Given the description of an element on the screen output the (x, y) to click on. 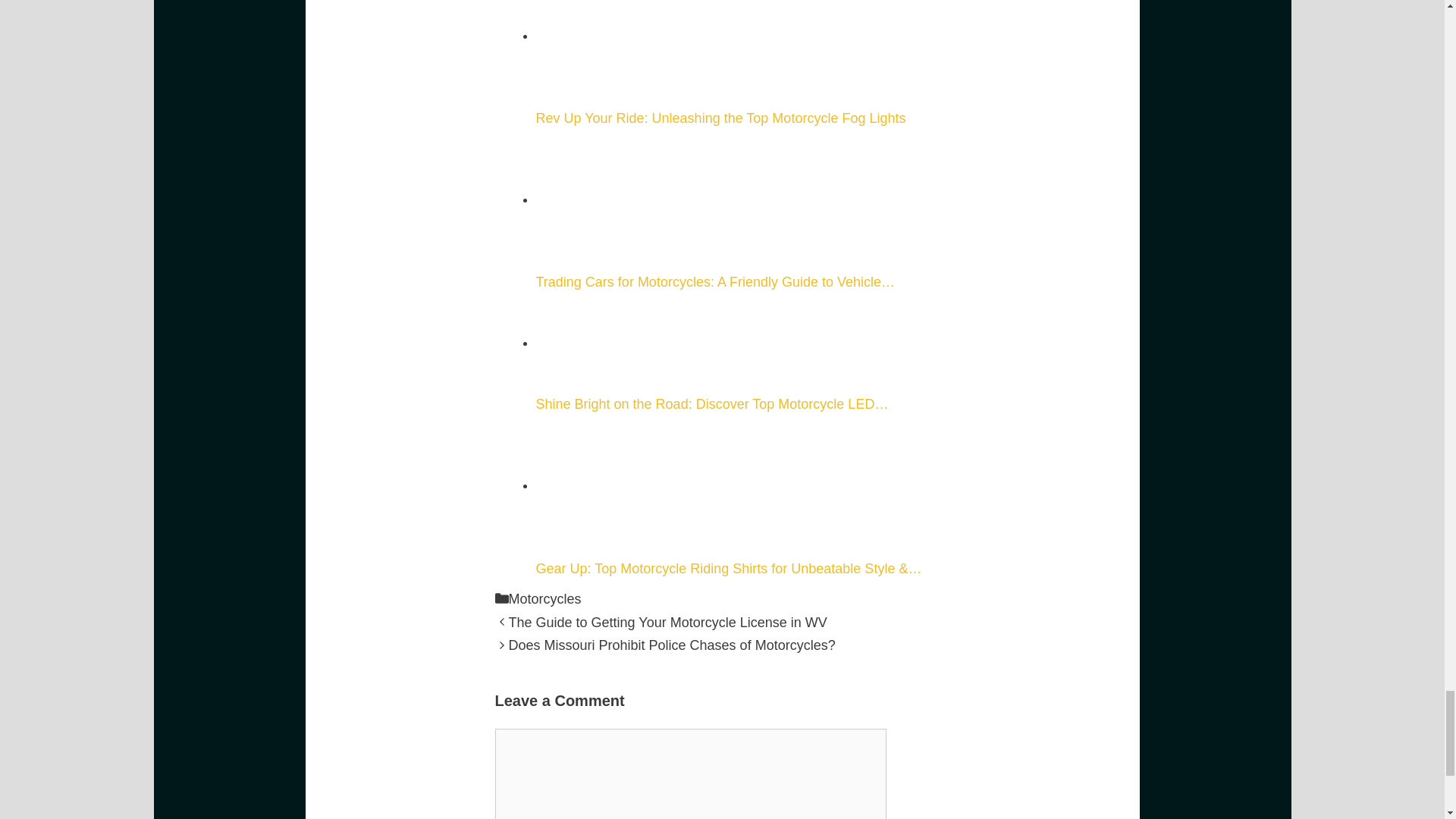
Rev Up Your Ride: Unleashing the Top Motorcycle Fog Lights (742, 63)
Motorcycles (544, 598)
Does Missouri Prohibit Police Chases of Motorcycles? (671, 645)
Rev Up Your Ride: Unleashing the Top Motorcycle Fog Lights (622, 46)
The Guide to Getting Your Motorcycle License in WV (667, 622)
